Given the description of an element on the screen output the (x, y) to click on. 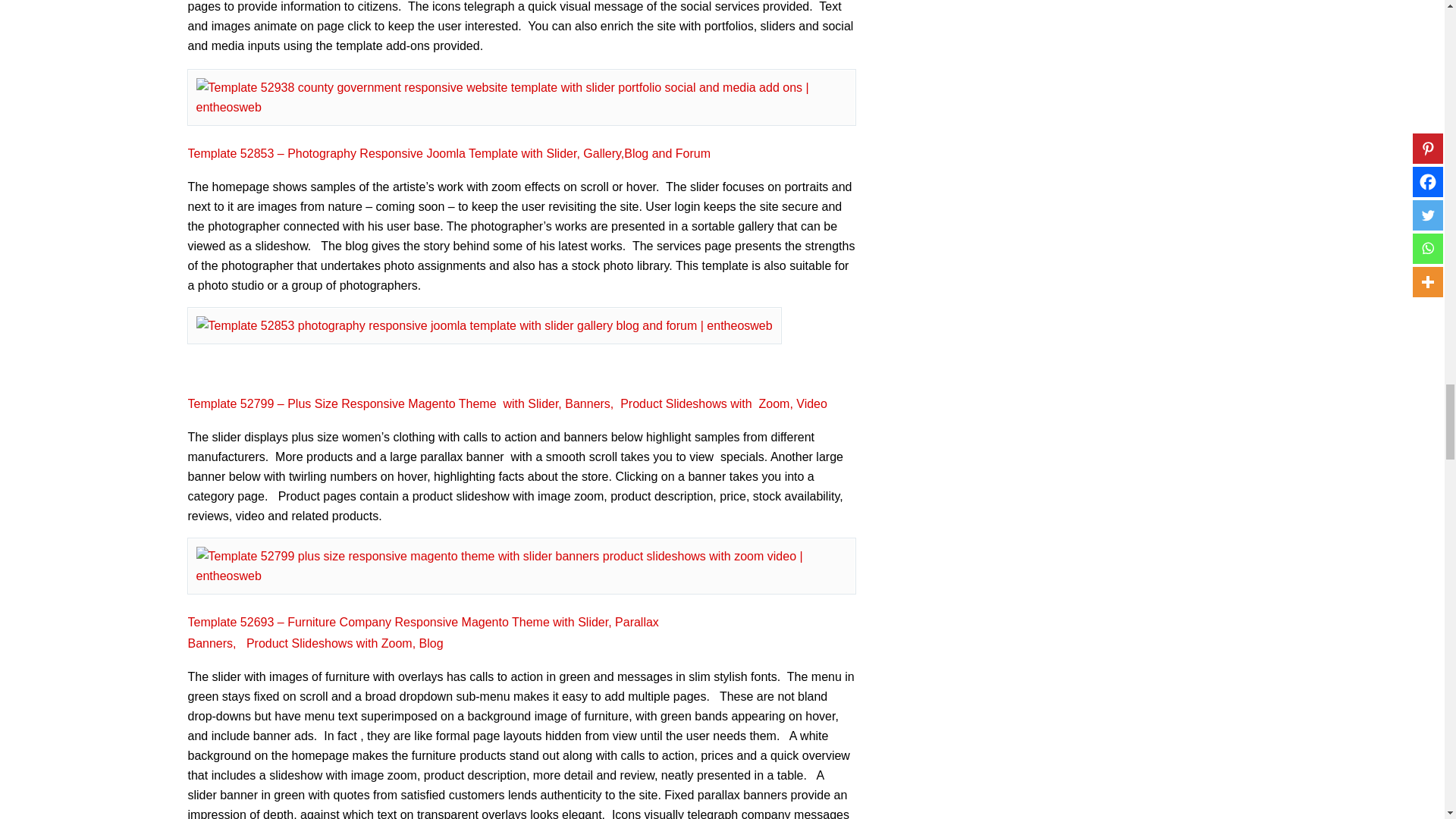
Best Website Templates February 2015 (520, 565)
Best Website Templates February 2015 (520, 97)
Best Website Templates February 2015 (482, 325)
